Given the description of an element on the screen output the (x, y) to click on. 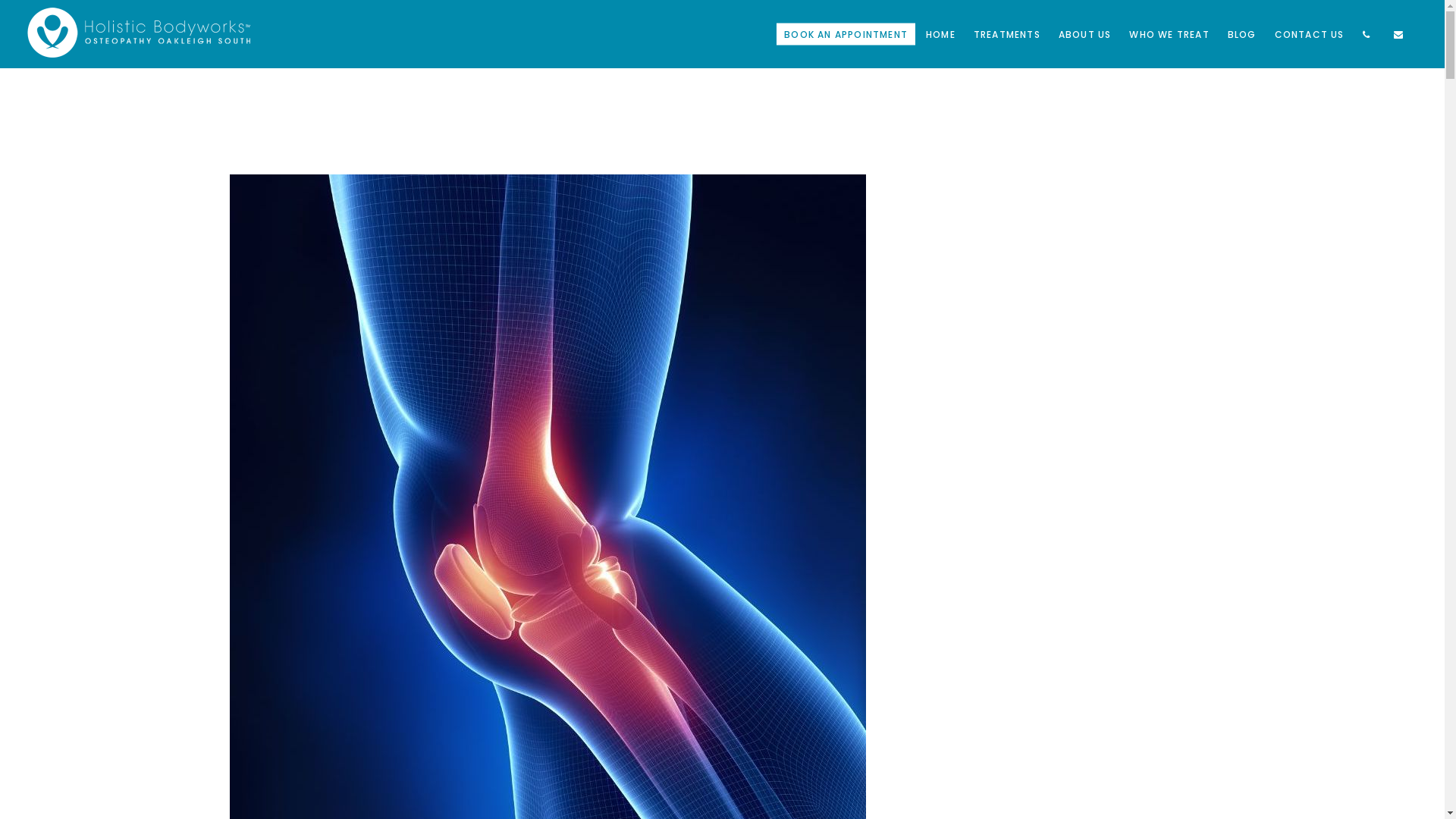
CONTACT US Element type: text (1309, 34)
BOOK AN APPOINTMENT Element type: text (845, 34)
WHO WE TREAT Element type: text (1168, 34)
TREATMENTS Element type: text (1006, 34)
BLOG Element type: text (1241, 34)
ABOUT US Element type: text (1084, 34)
HOME Element type: text (940, 34)
